Given the description of an element on the screen output the (x, y) to click on. 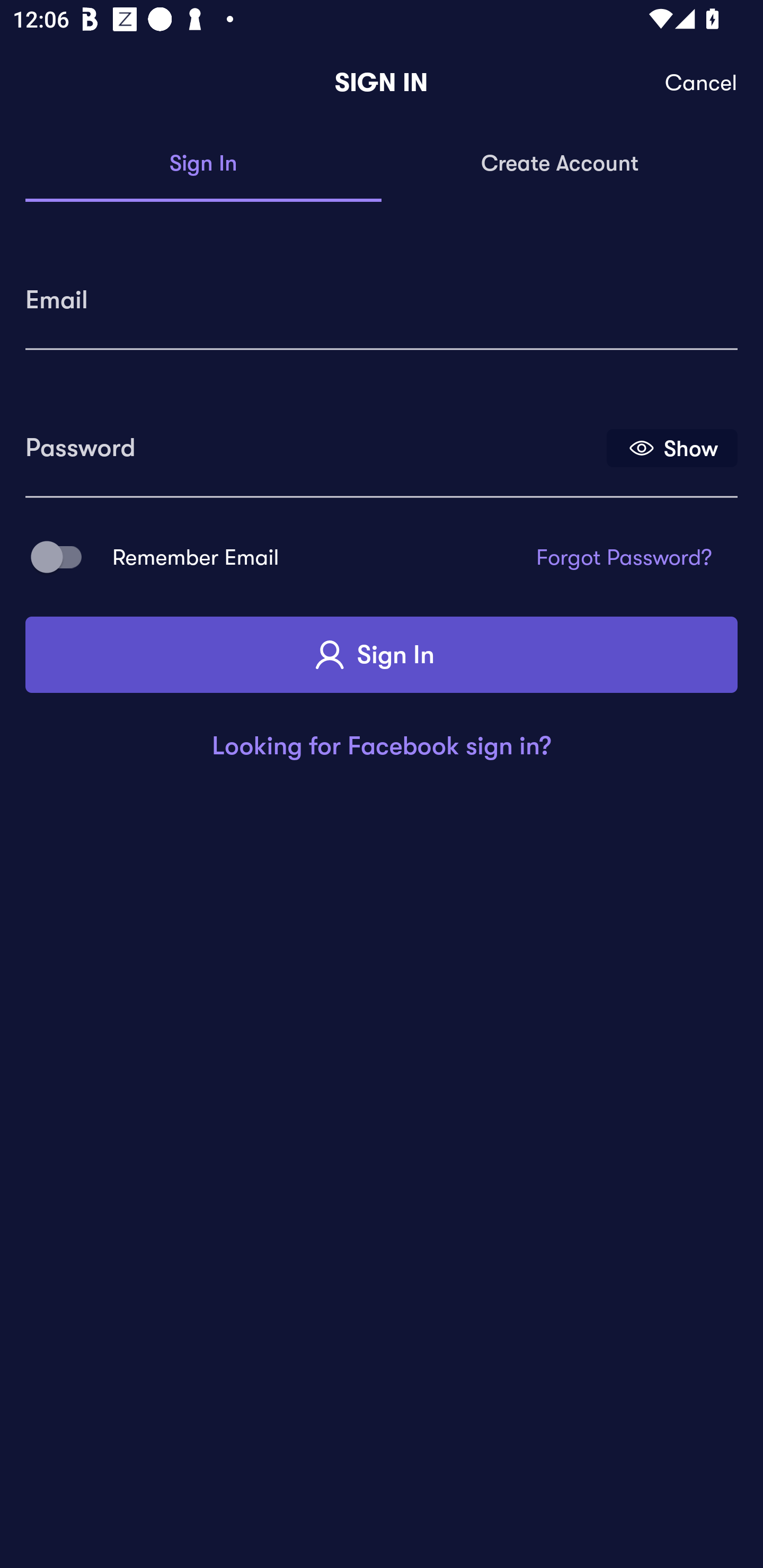
Cancel (701, 82)
Sign In (203, 164)
Create Account (559, 164)
Email (381, 293)
Password (314, 441)
Show Password Show (671, 447)
Remember Email (62, 557)
Sign In (381, 654)
